Given the description of an element on the screen output the (x, y) to click on. 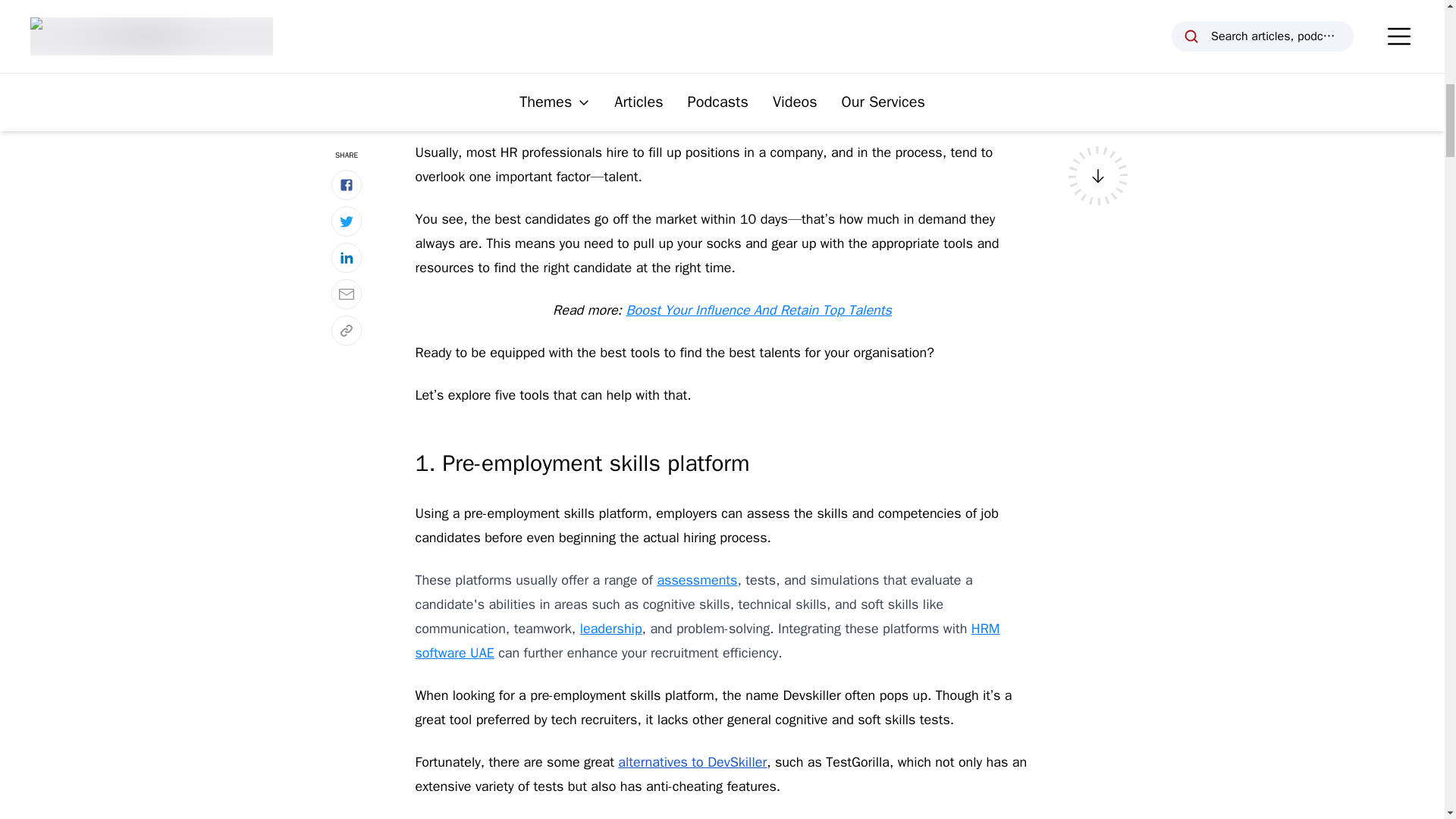
alternatives to DevSkiller (692, 761)
assessments (696, 579)
HRM software UAE (707, 639)
Boost Your Influence And Retain Top Talents (758, 310)
leadership (610, 628)
